Given the description of an element on the screen output the (x, y) to click on. 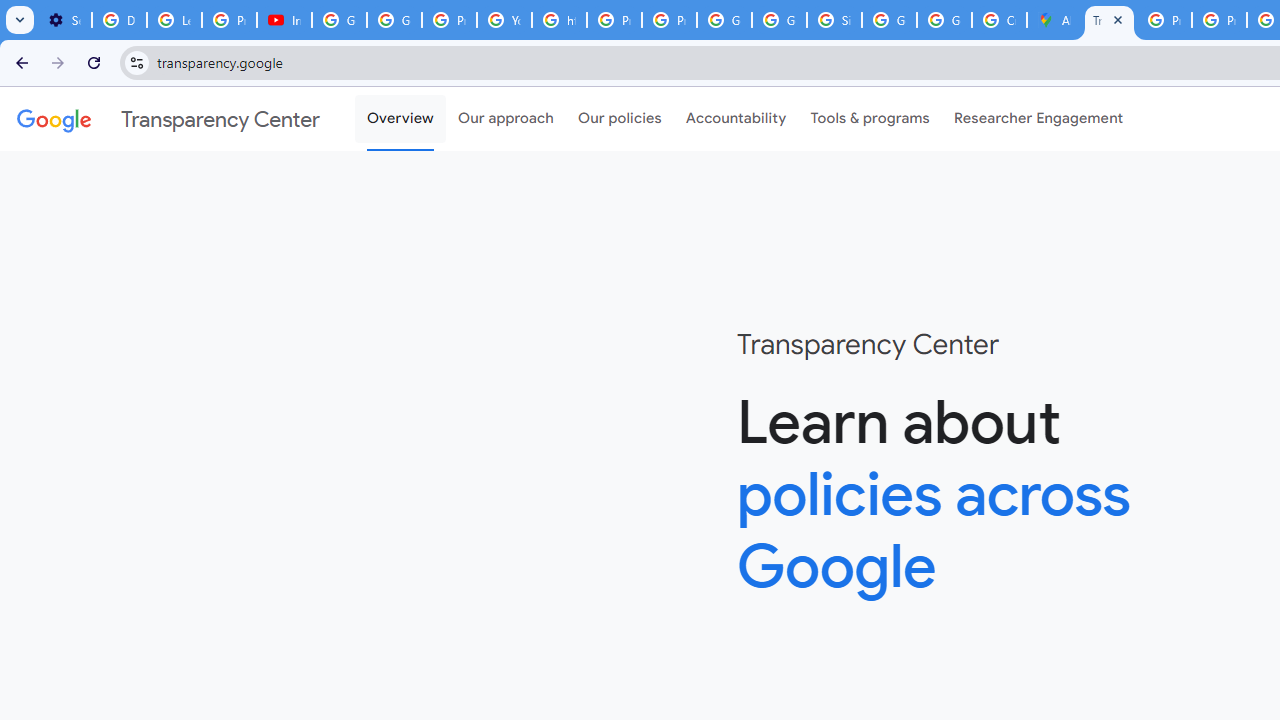
Privacy Help Center - Policies Help (1218, 20)
Researcher Engagement (1038, 119)
Sign in - Google Accounts (833, 20)
